Given the description of an element on the screen output the (x, y) to click on. 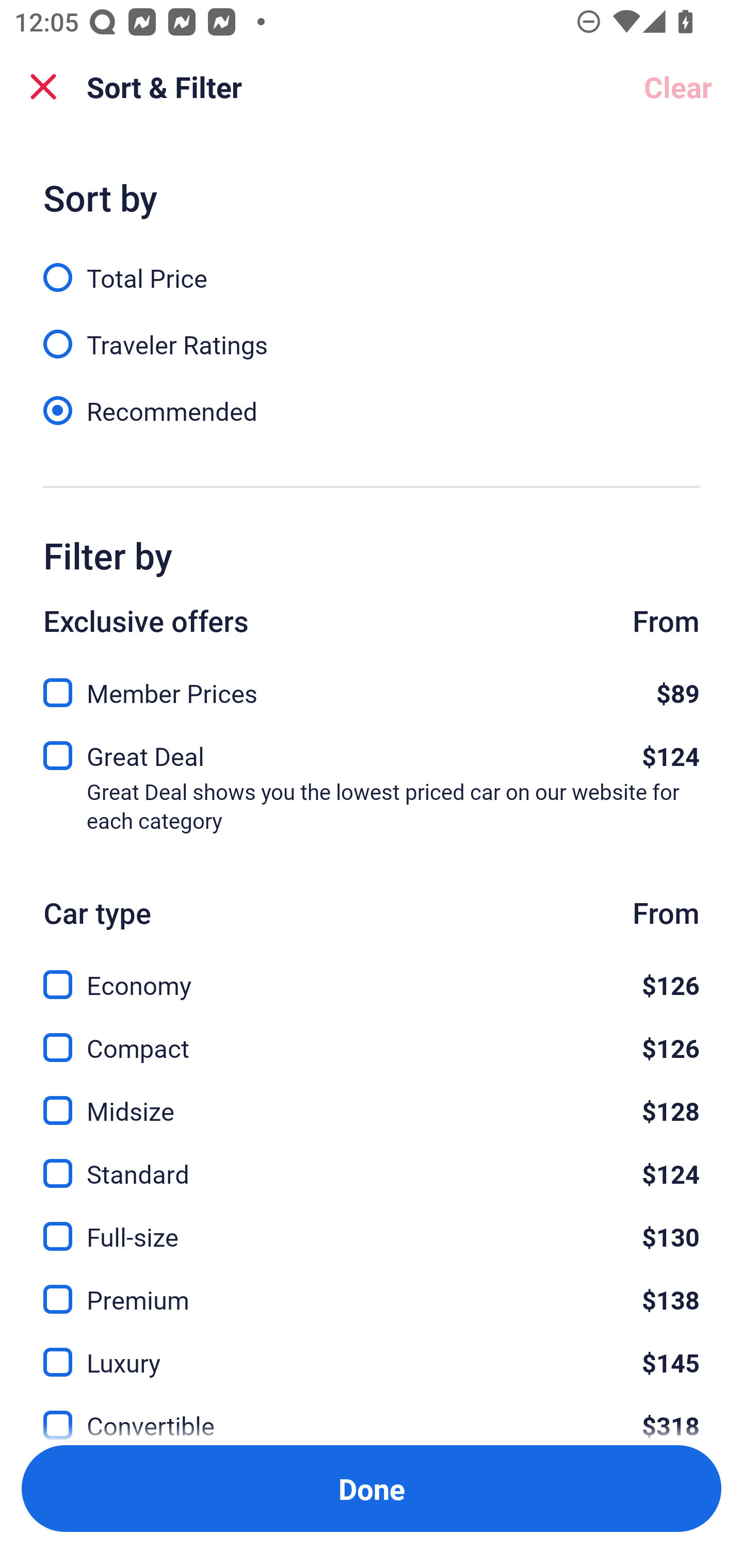
Close Sort and Filter (43, 86)
Clear (677, 86)
Total Price (371, 266)
Traveler Ratings (371, 332)
Member Prices, $89 Member Prices $89 (371, 686)
Economy, $126 Economy $126 (371, 973)
Compact, $126 Compact $126 (371, 1036)
Midsize, $128 Midsize $128 (371, 1098)
Standard, $124 Standard $124 (371, 1161)
Full-size, $130 Full-size $130 (371, 1224)
Premium, $138 Premium $138 (371, 1286)
Luxury, $145 Luxury $145 (371, 1350)
Convertible, $318 Convertible $318 (371, 1413)
Apply and close Sort and Filter Done (371, 1488)
